Given the description of an element on the screen output the (x, y) to click on. 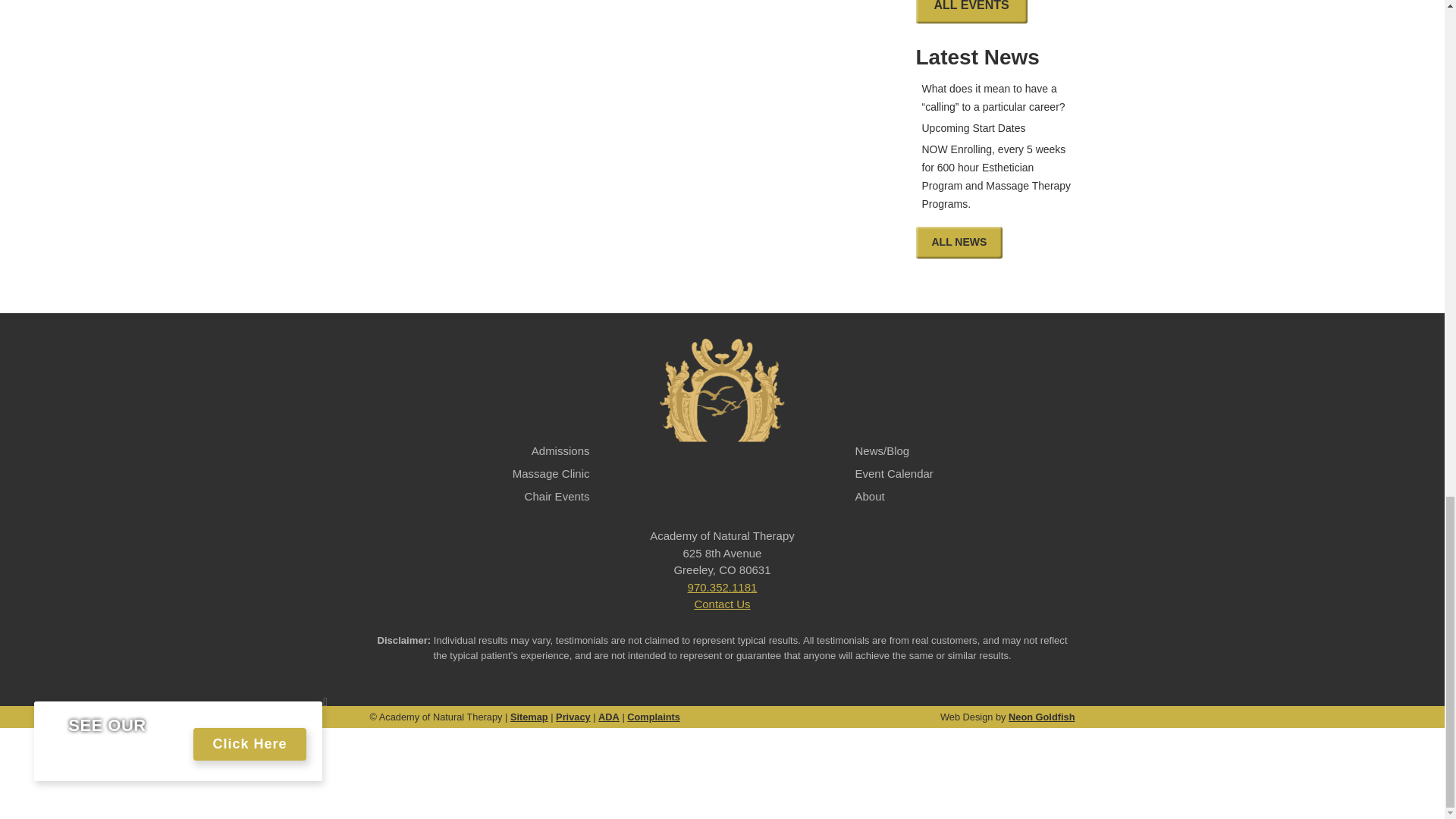
click to call (722, 586)
